Given the description of an element on the screen output the (x, y) to click on. 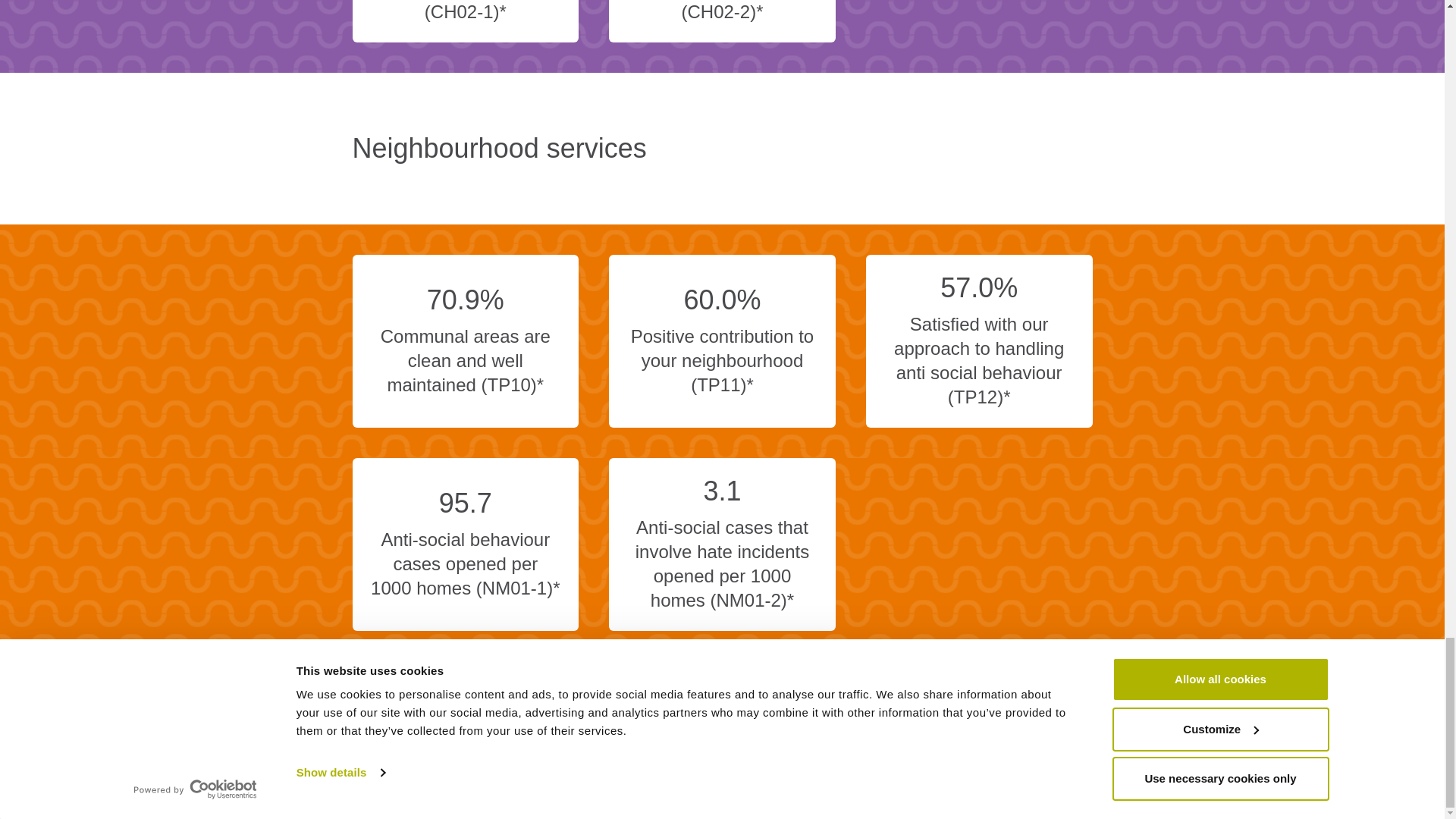
link to Flagship group site (1043, 775)
